Given the description of an element on the screen output the (x, y) to click on. 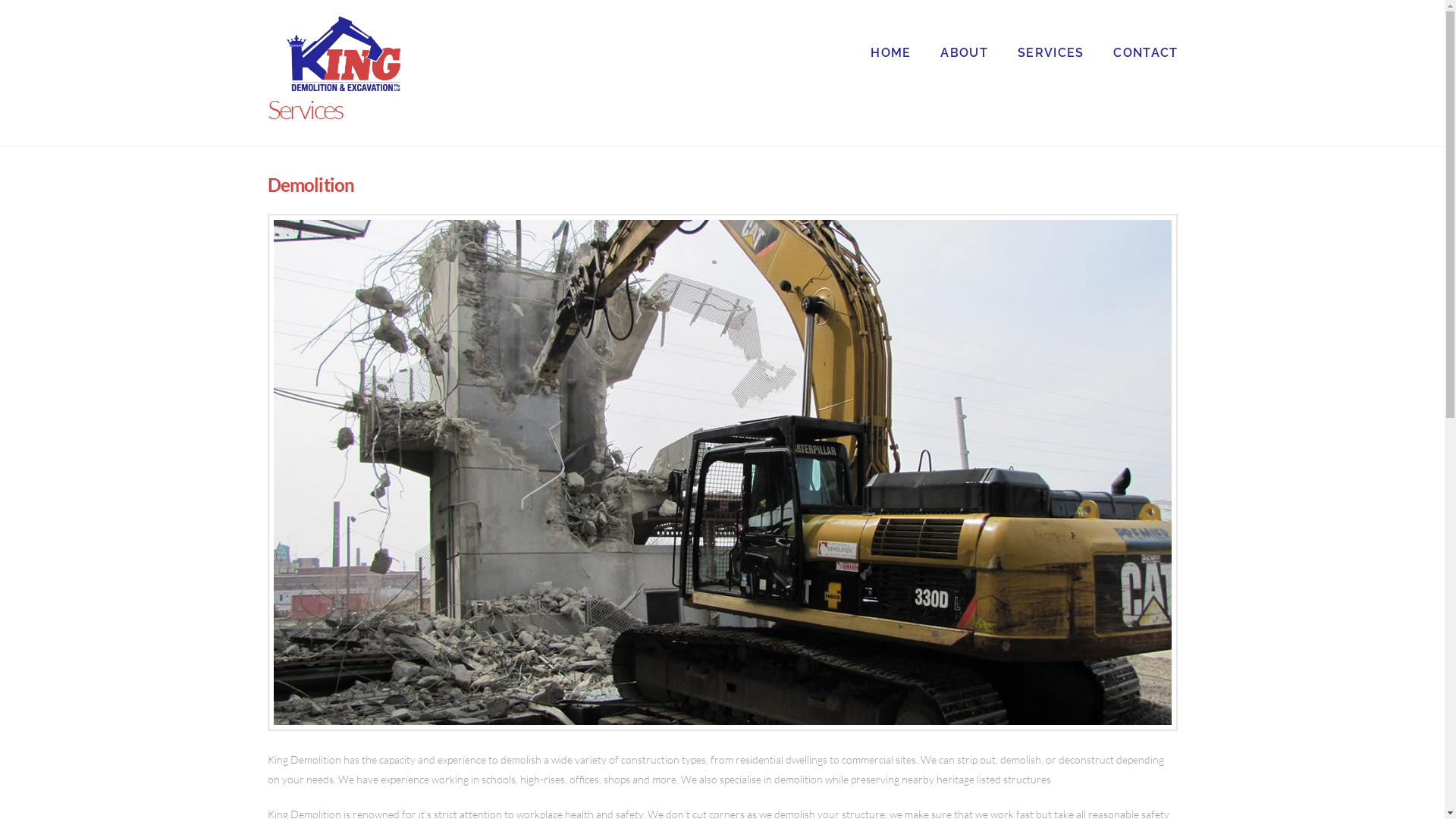
CONTACT Element type: text (1137, 30)
SERVICES Element type: text (1050, 30)
HOME Element type: text (890, 30)
The number one choice for Sydney demolition Element type: hover (342, 53)
ABOUT Element type: text (963, 30)
